Given the description of an element on the screen output the (x, y) to click on. 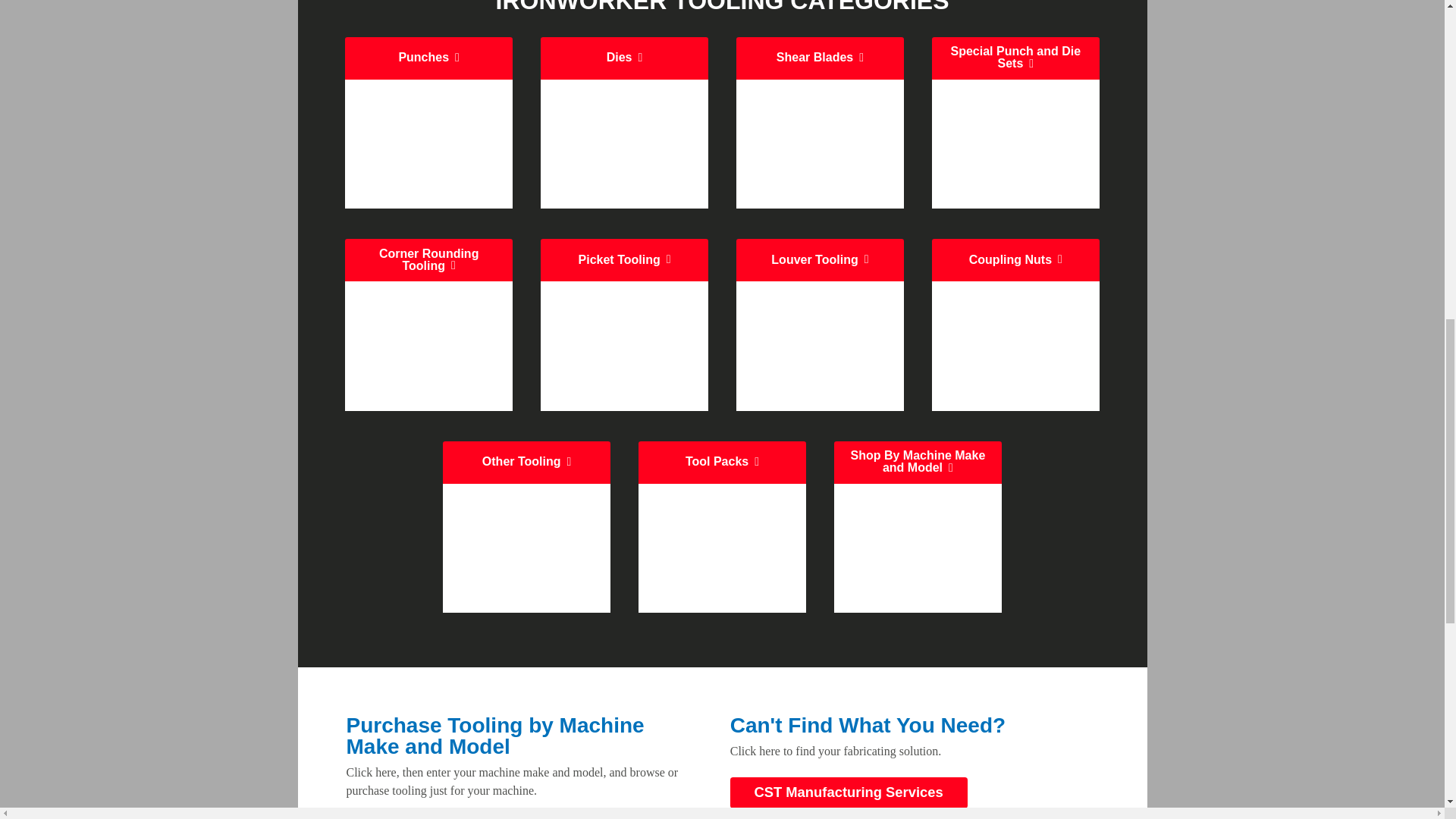
Louver Tooling (820, 325)
Shop By Machine Make and Model (917, 527)
Shear Blades (820, 122)
Coupling Nuts (1015, 325)
Tool Packs (722, 527)
Special Punch and Die Sets (1015, 122)
Other Tooling (526, 527)
CST Manufacturing Services (849, 792)
Picket Tooling (623, 325)
Punches (428, 122)
Dies (623, 122)
Corner Rounding Tooling (428, 325)
